Given the description of an element on the screen output the (x, y) to click on. 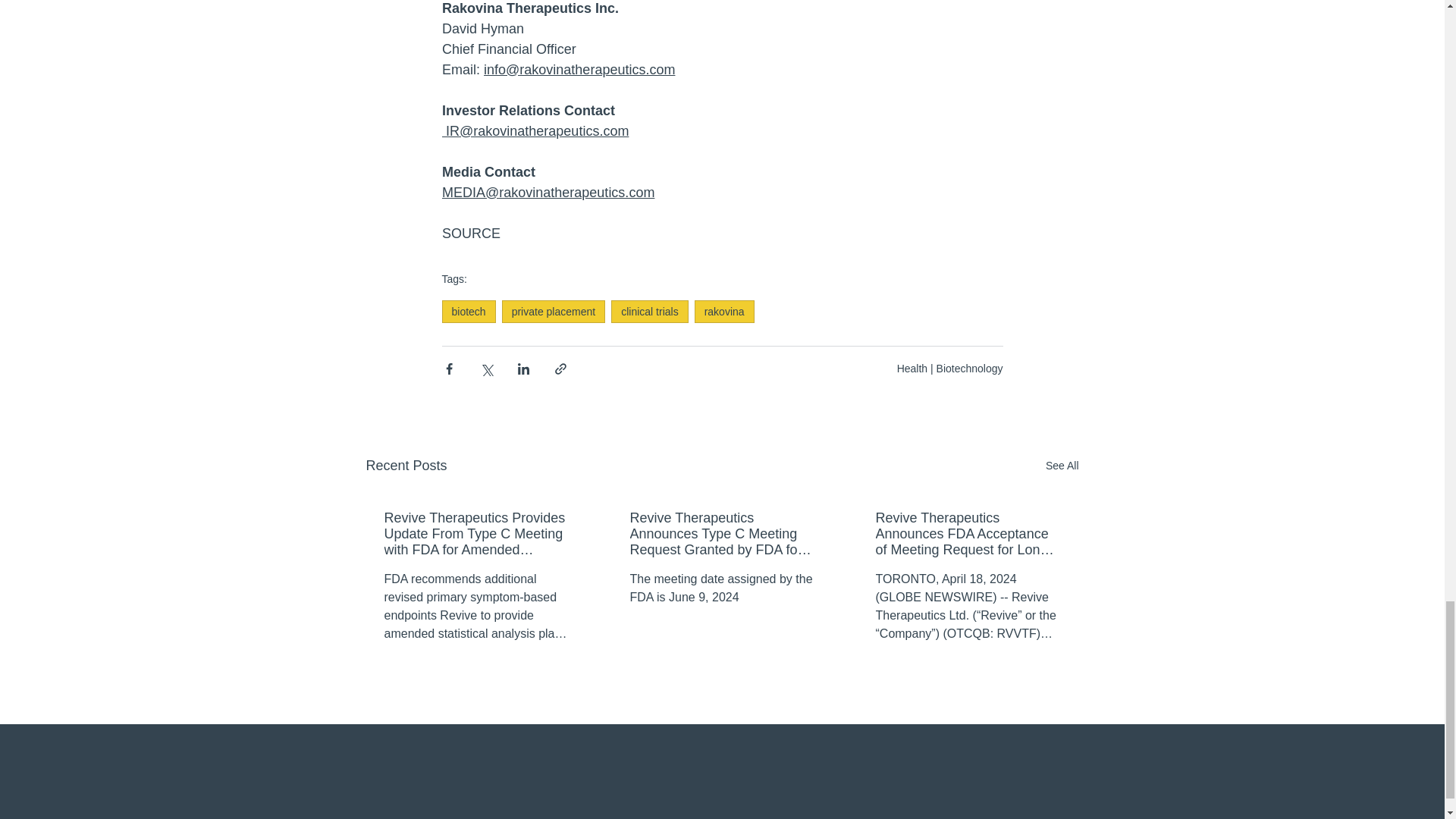
clinical trials (649, 311)
private placement (553, 311)
See All (1061, 465)
SOURCE (470, 233)
biotech (468, 311)
rakovina (724, 311)
